Given the description of an element on the screen output the (x, y) to click on. 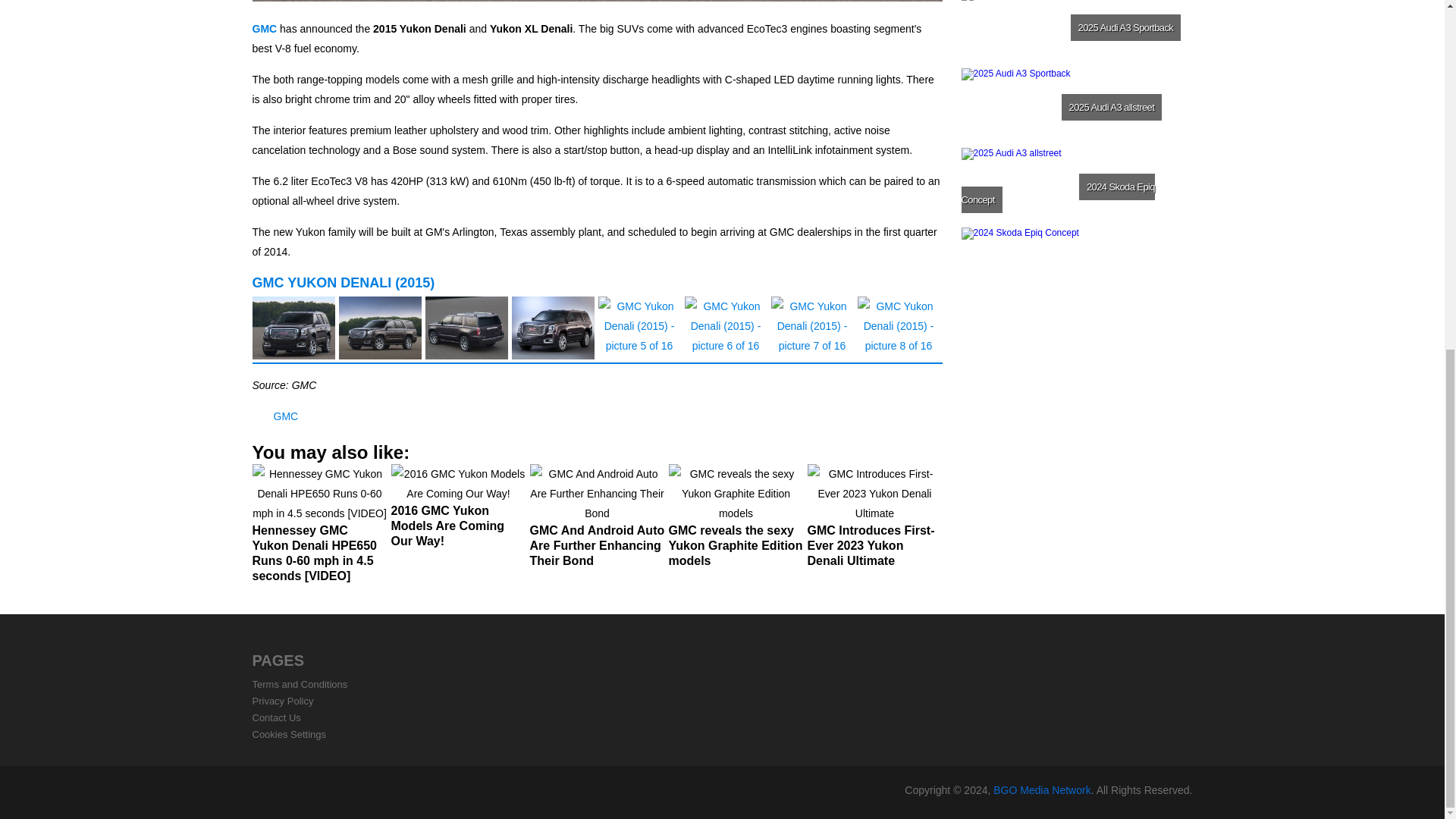
GMC Introduces First-Ever 2023 Yukon Denali Ultimate (874, 521)
GMC reveals the sexy Yukon Graphite Edition models (735, 521)
GMC And Android Auto Are Further Enhancing Their Bond (596, 521)
Privacy Policy (282, 700)
Skoda Epiq Concept (1074, 264)
Contact Us (275, 717)
Audi A3 allstreet (1074, 184)
Privacy Policy (282, 700)
2016 GMC Yukon Models Are Coming Our Way! (458, 512)
Terms and Conditions (299, 684)
